Given the description of an element on the screen output the (x, y) to click on. 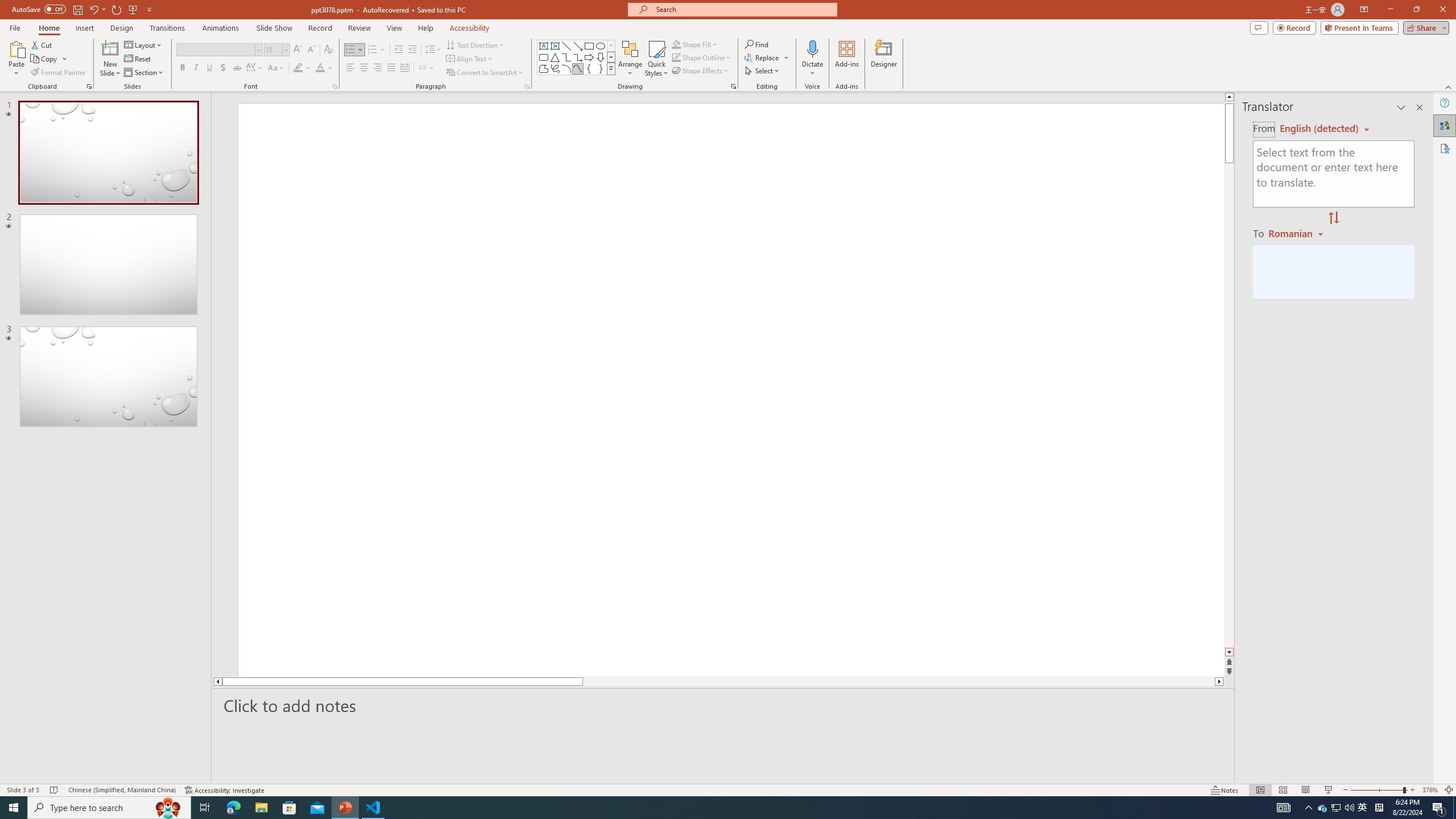
Decrease Text Size (1313, 773)
Text Size (1363, 773)
